Given the description of an element on the screen output the (x, y) to click on. 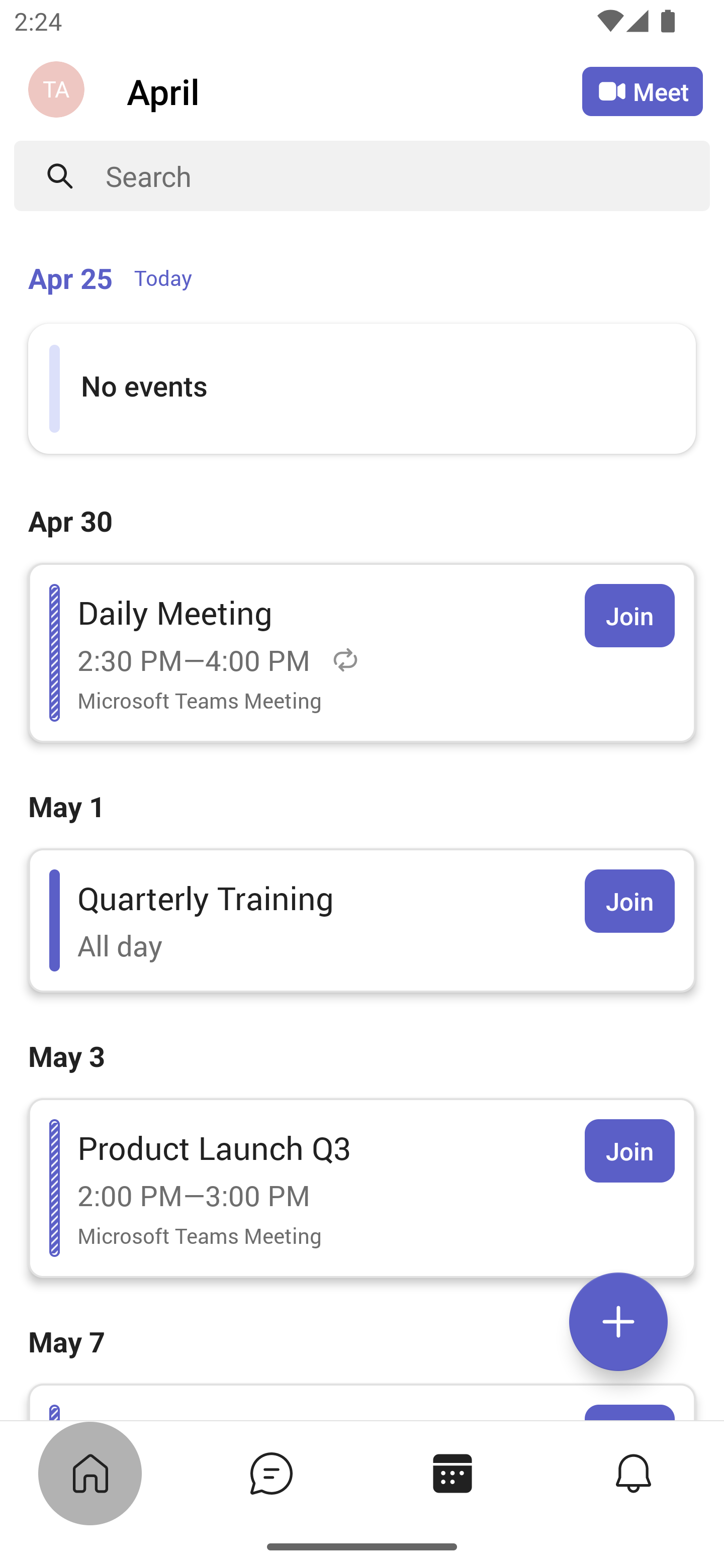
Navigation (58, 91)
Meet Meet now or join with an ID (642, 91)
April April Calendar Agenda View (354, 90)
Search (407, 176)
Join (629, 615)
Join (629, 900)
Join (629, 1150)
Expand meetings menu (618, 1321)
Home tab,1 of 4, not selected (89, 1472)
Chat tab,2 of 4, not selected (270, 1472)
Calendar tab, 3 of 4 (451, 1472)
Activity tab,4 of 4, not selected (632, 1472)
